Given the description of an element on the screen output the (x, y) to click on. 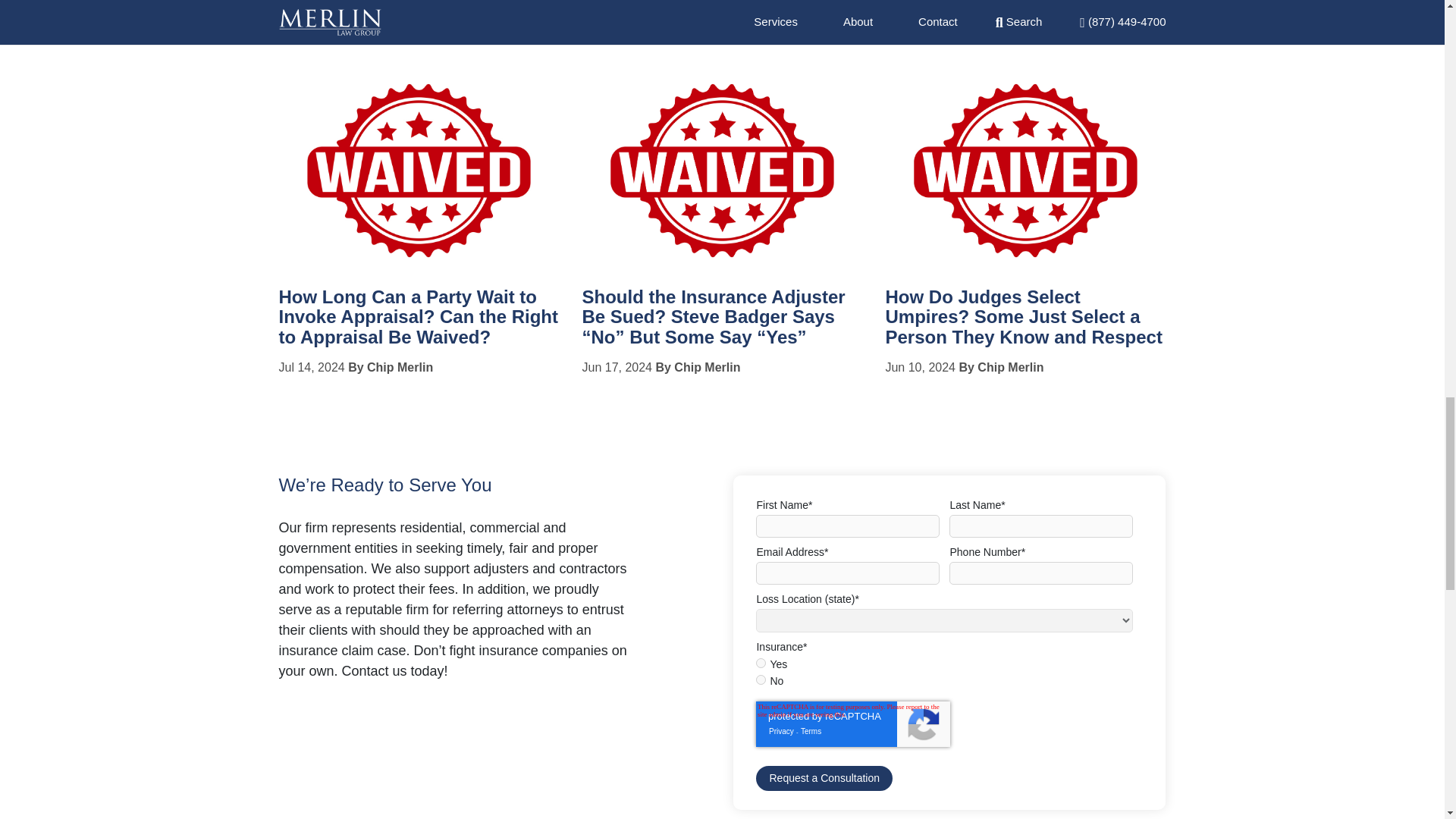
View All Posts (325, 31)
By Chip Merlin (389, 367)
Request a Consultation (823, 778)
reCAPTCHA (852, 723)
By Chip Merlin (697, 367)
No (760, 679)
Yes (760, 663)
